Given the description of an element on the screen output the (x, y) to click on. 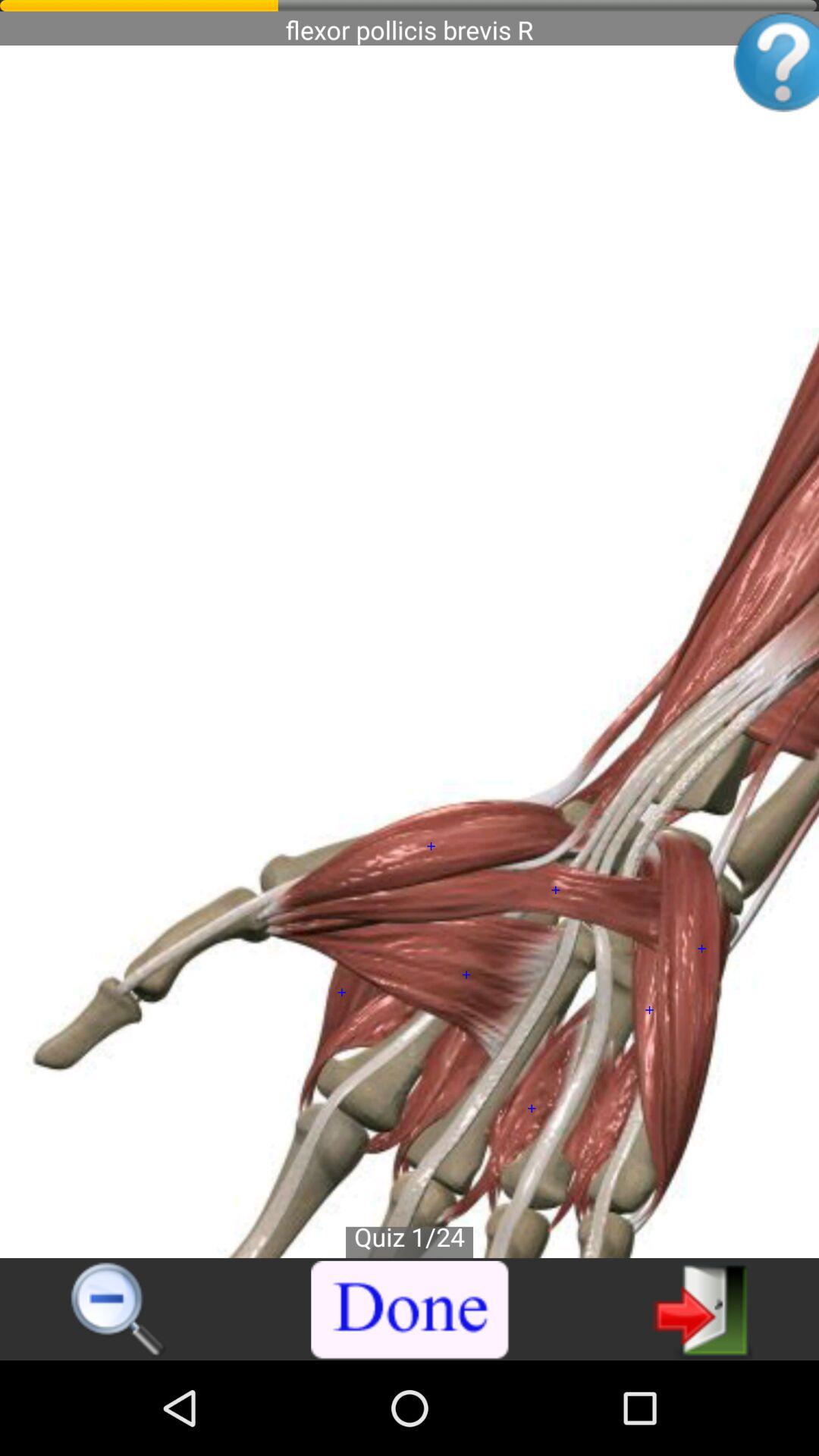
press icon at the bottom left corner (118, 1310)
